Given the description of an element on the screen output the (x, y) to click on. 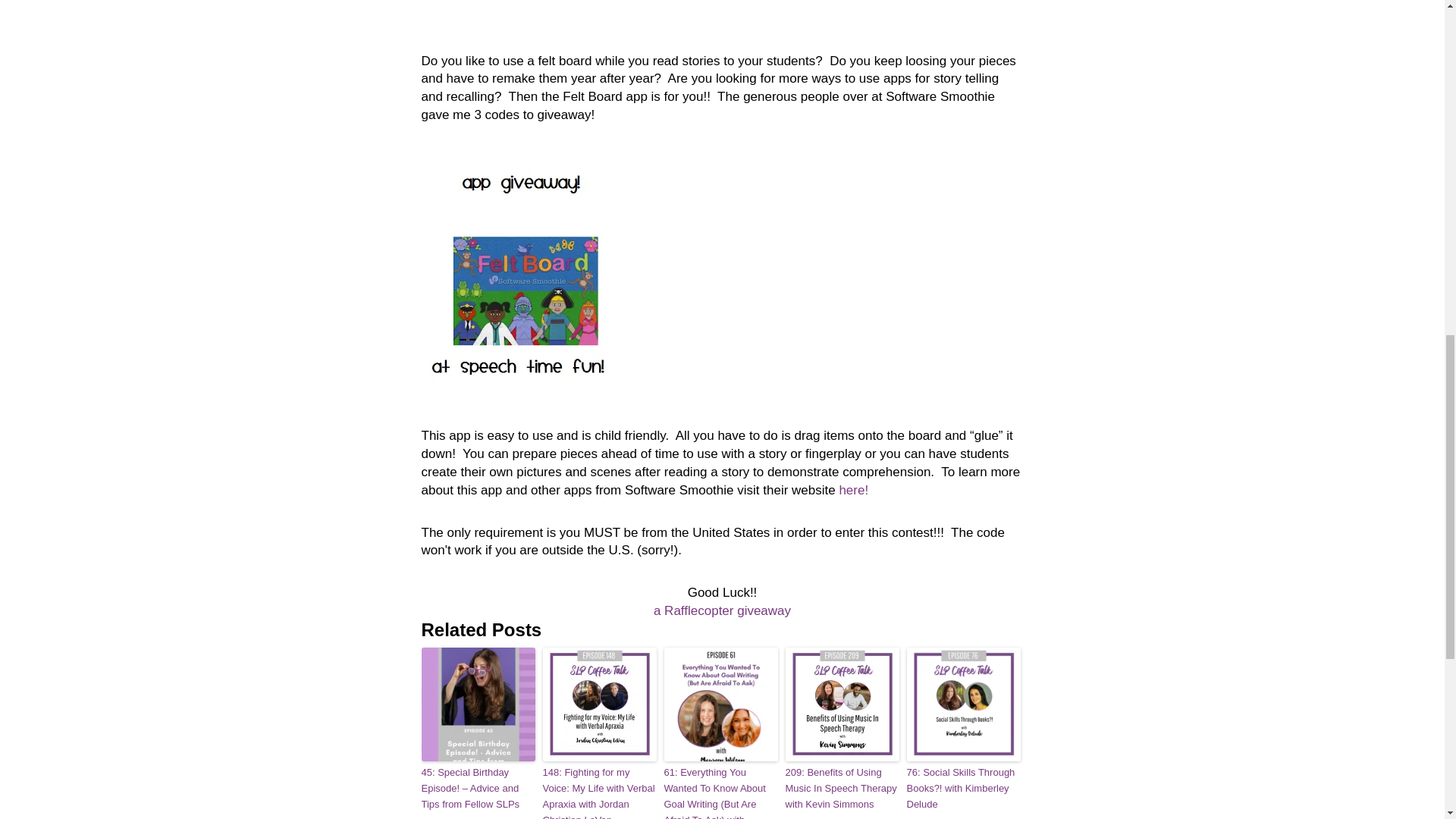
76: Social Skills Through Books?! with Kimberley Delude (963, 788)
here! (852, 490)
a Rafflecopter giveaway (721, 610)
